Given the description of an element on the screen output the (x, y) to click on. 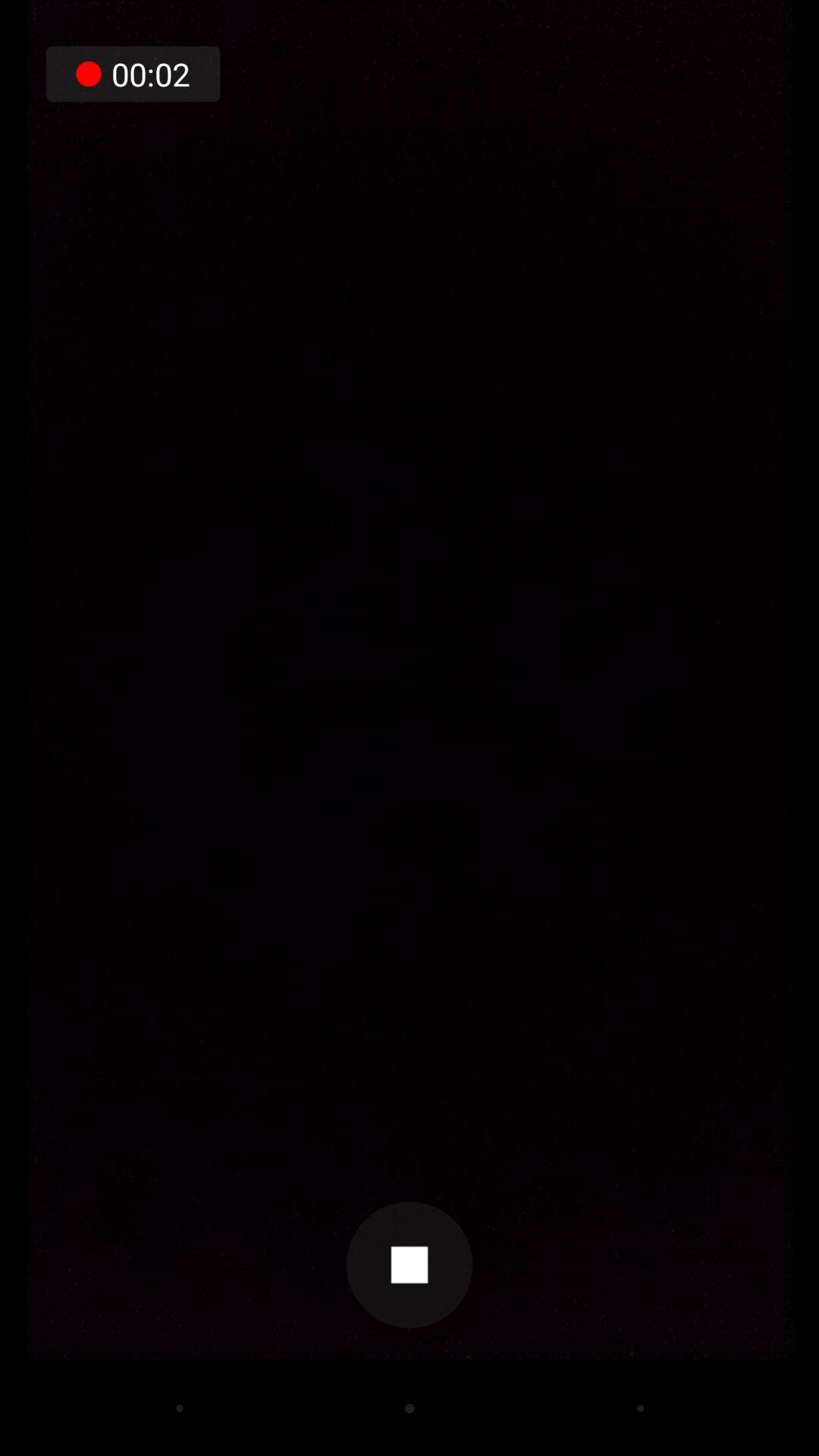
tap item below the 00:02 (409, 1264)
